Given the description of an element on the screen output the (x, y) to click on. 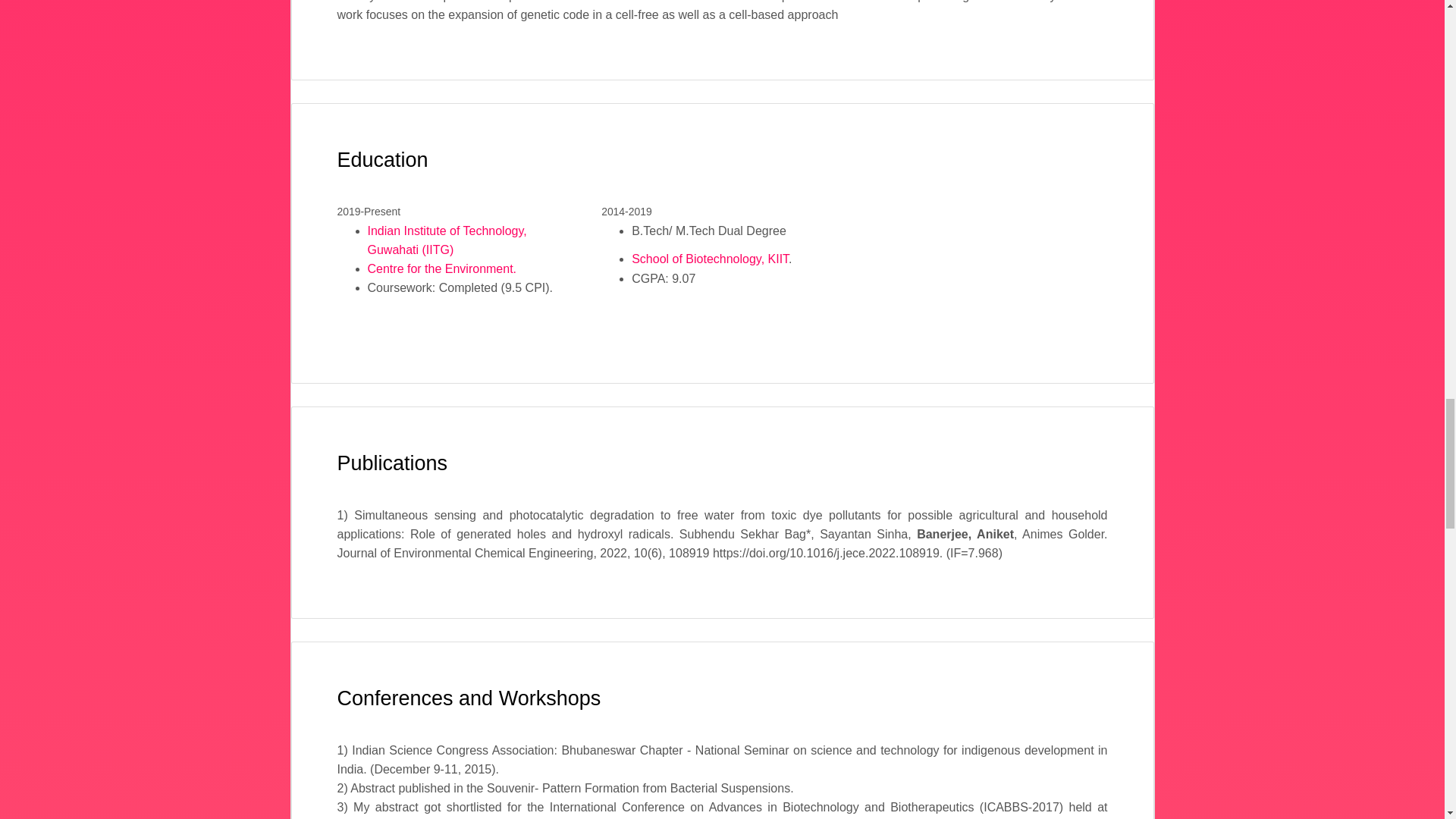
School of Biotechnology, KIIT (710, 258)
Centre for the Environment. (441, 268)
